Given the description of an element on the screen output the (x, y) to click on. 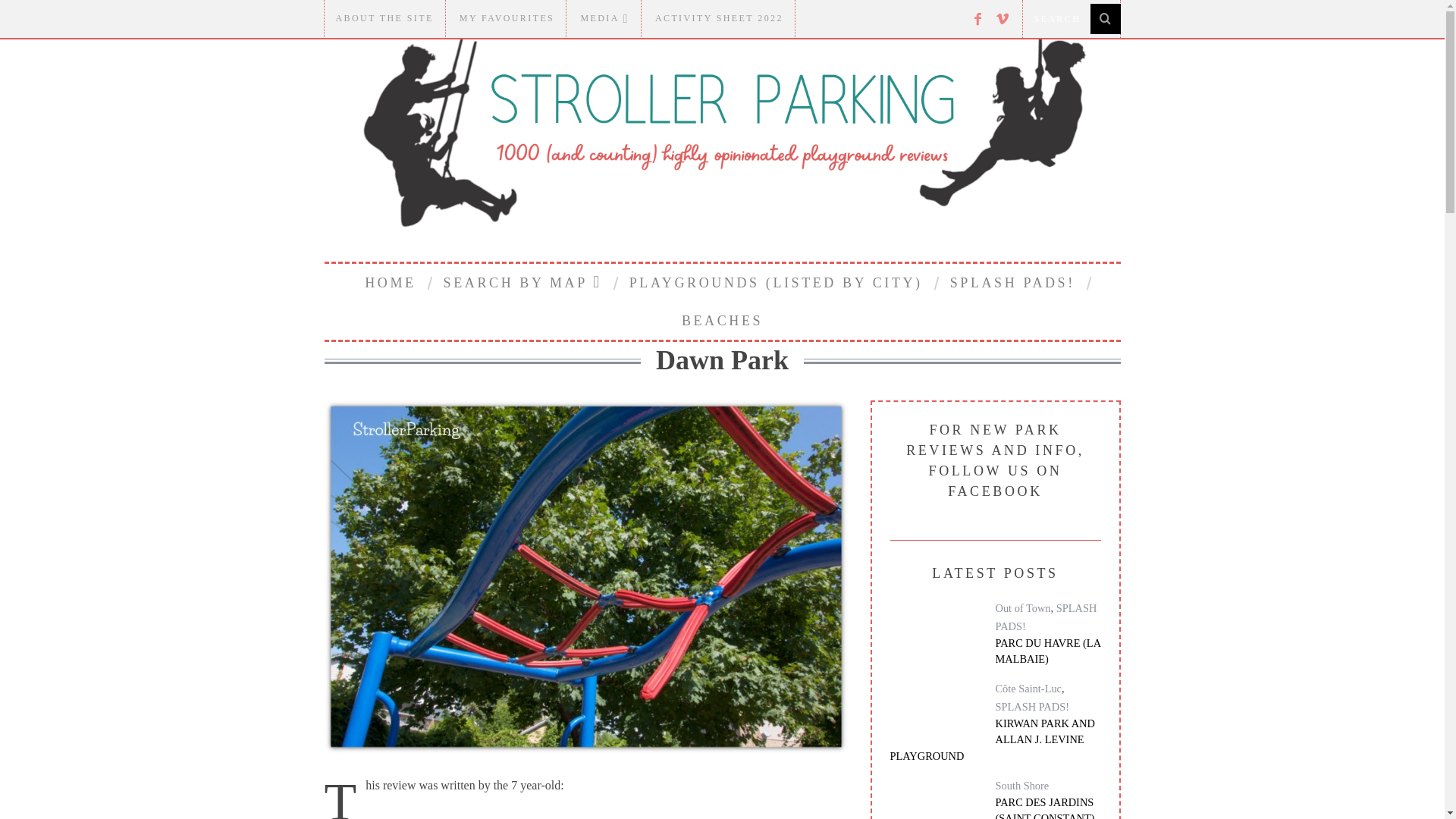
Search (1071, 18)
